Given the description of an element on the screen output the (x, y) to click on. 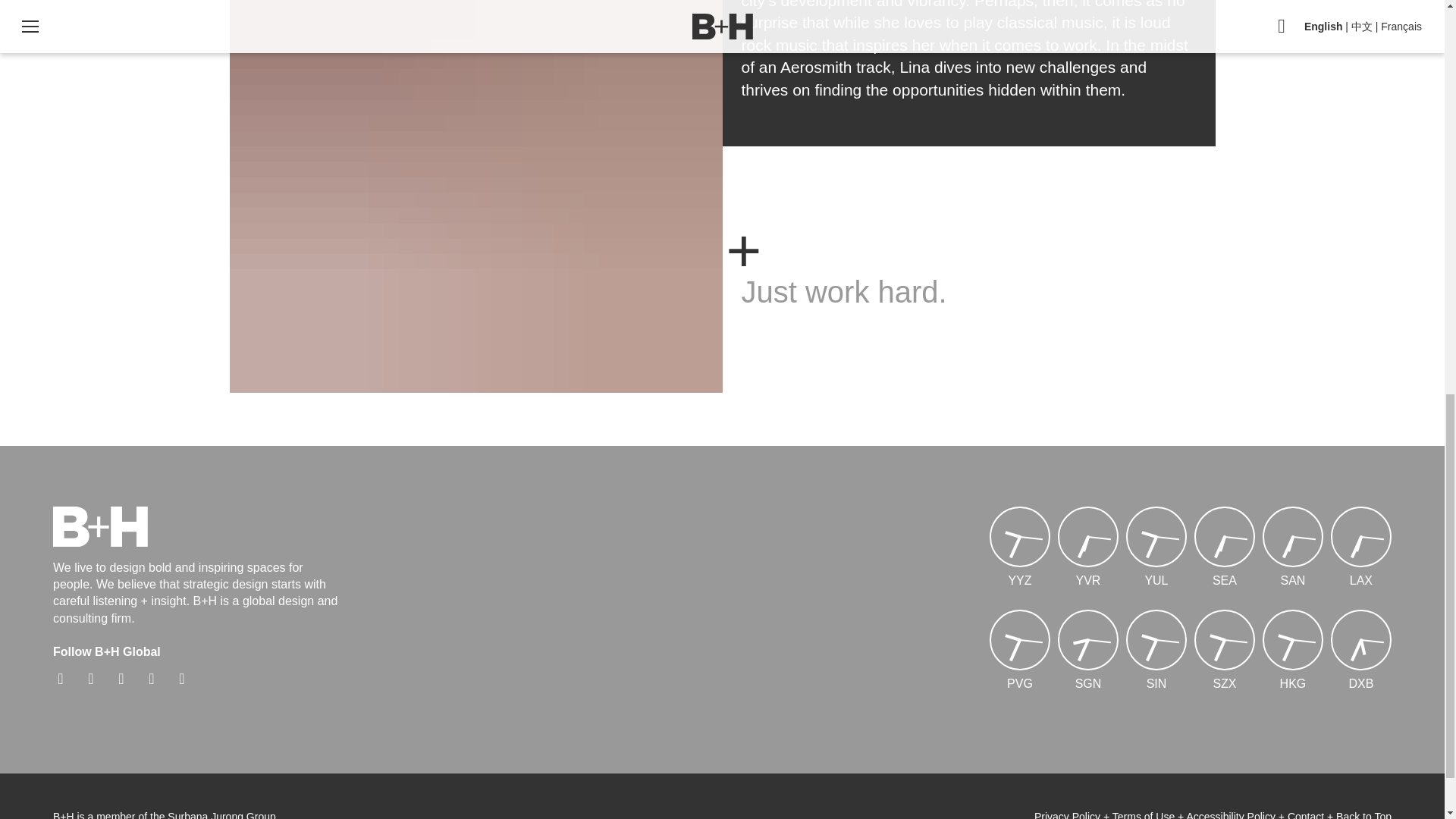
Singapore (1155, 684)
Hong Kong (1292, 684)
Vancouver (1088, 580)
San Diego (1292, 580)
Montreal (1155, 580)
Seattle (1224, 580)
Shanghai (1019, 684)
Los Angeles (1360, 580)
Toronto (1019, 580)
Shenzhen (1224, 684)
Dubai (1360, 684)
